Given the description of an element on the screen output the (x, y) to click on. 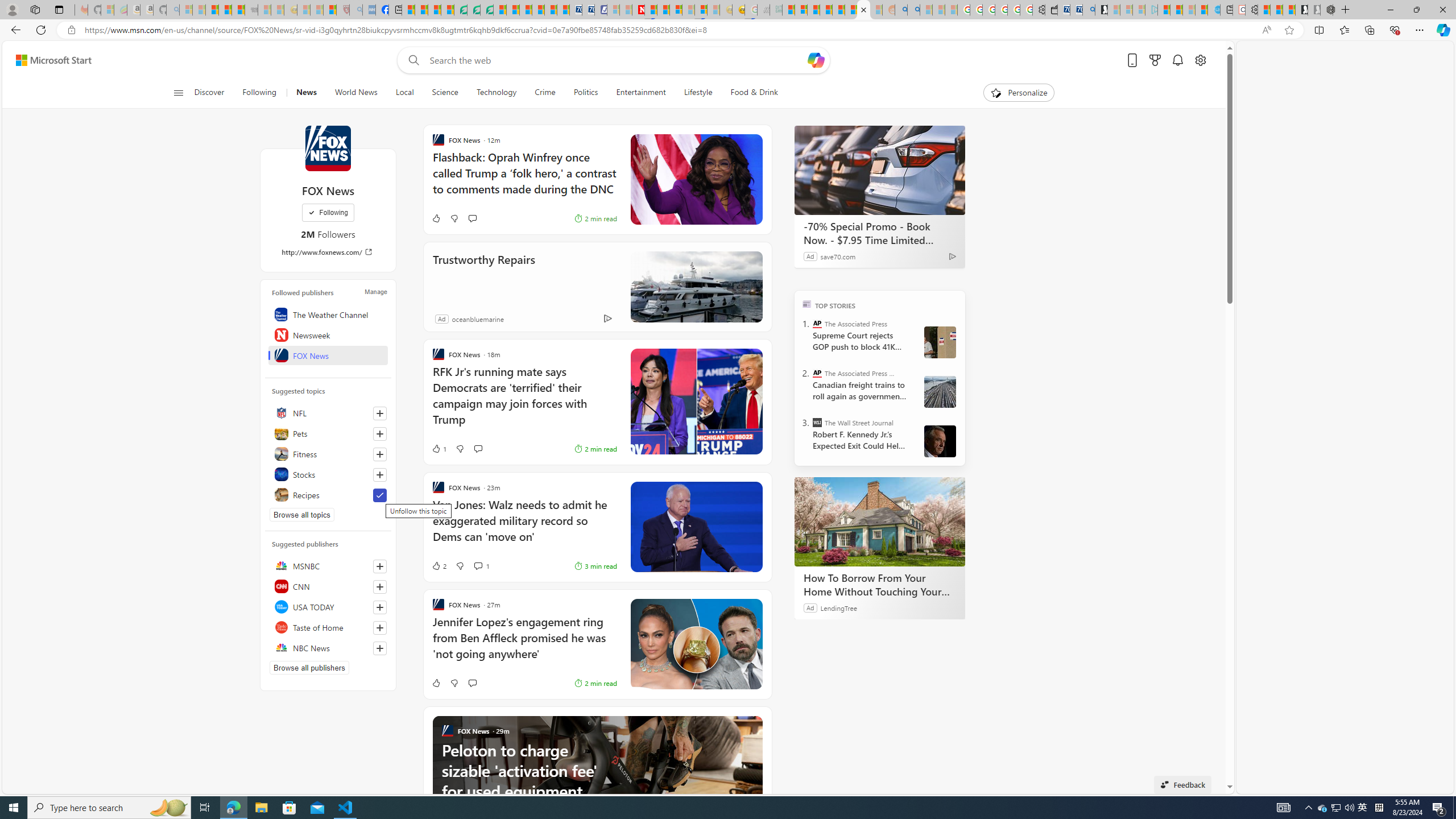
Bing Real Estate - Home sales and rental listings (1088, 9)
MSNBC (327, 565)
oceanbluemarine (477, 318)
Unfollow this topic (379, 495)
NFL (327, 412)
